Given the description of an element on the screen output the (x, y) to click on. 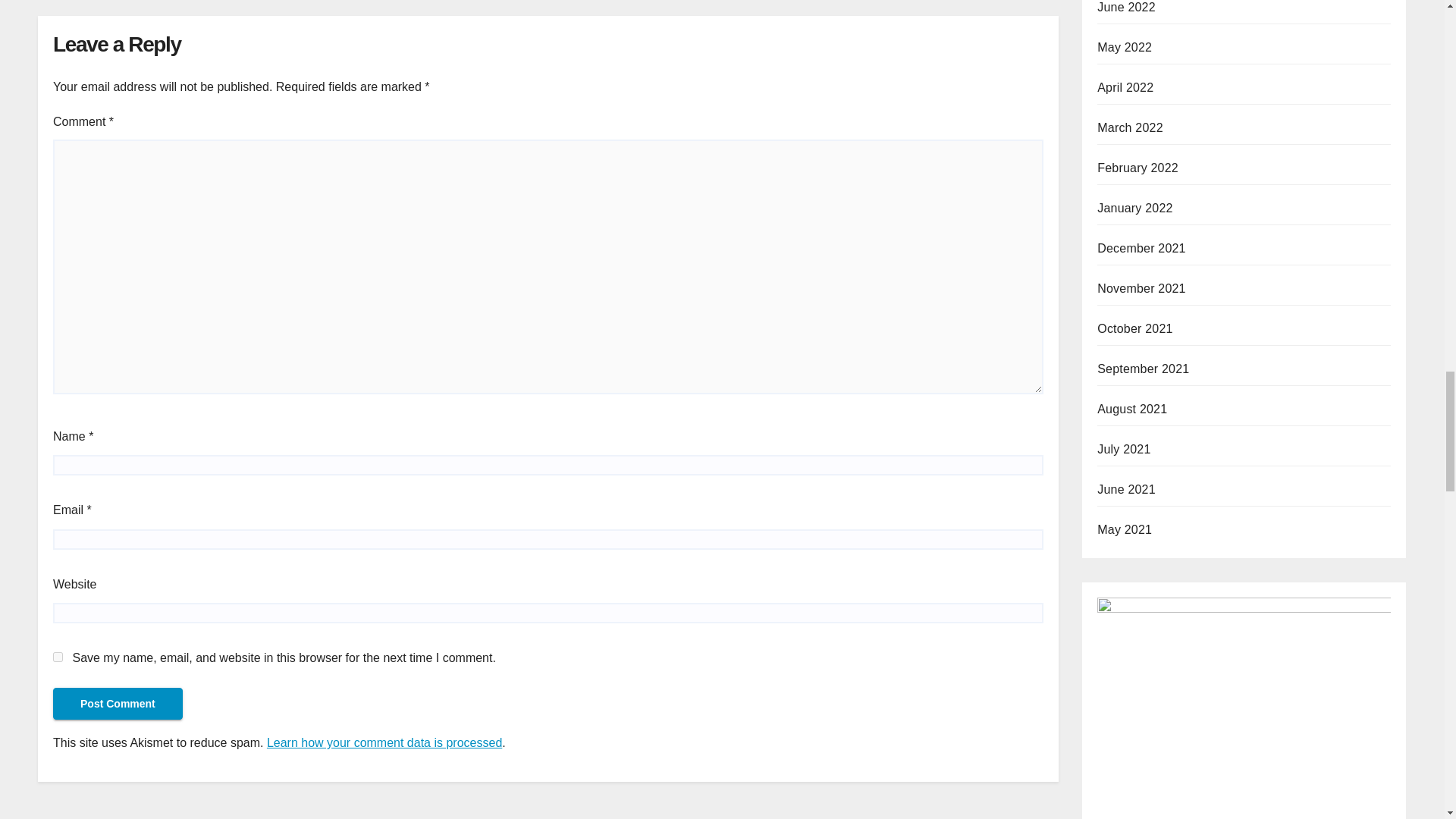
Post Comment (117, 703)
yes (57, 656)
